Given the description of an element on the screen output the (x, y) to click on. 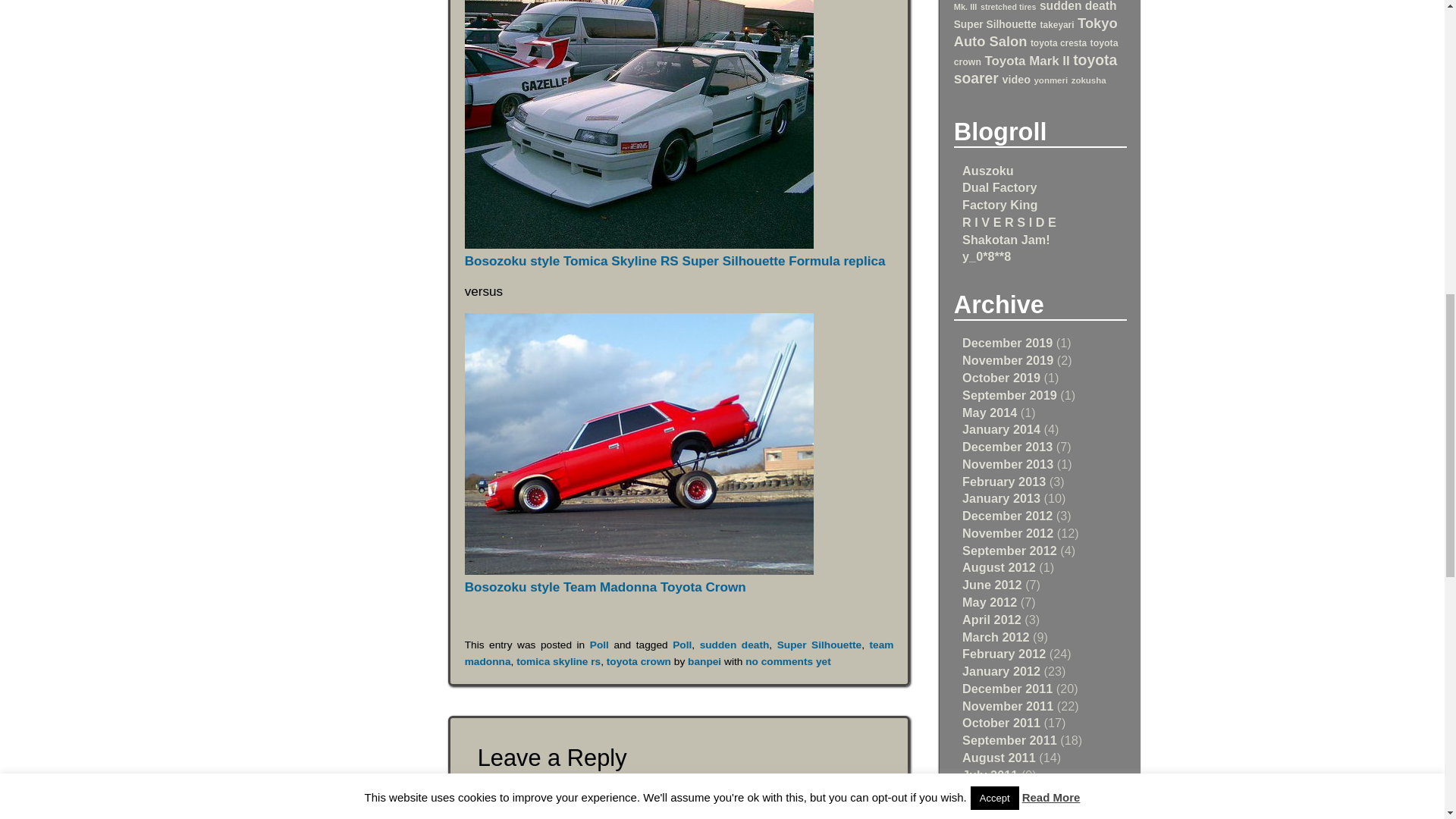
Bosozoku style Team Madonna Toyota Crown (638, 443)
stretched tires (1007, 6)
Bosozoku style Team Madonna Toyota Crown (638, 578)
Posts by banpei (703, 661)
SSR Mk. III (1037, 5)
